Given the description of an element on the screen output the (x, y) to click on. 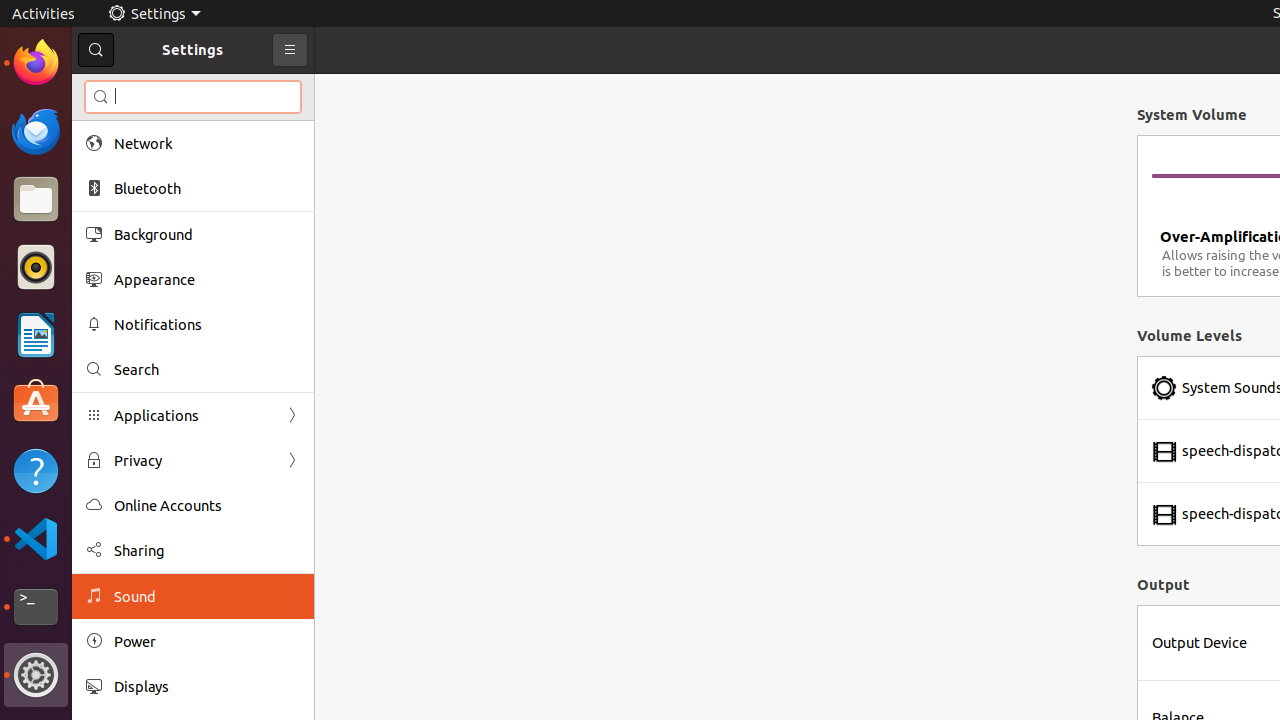
li.txt Element type: label (259, 89)
Settings Element type: menu (154, 13)
Forward Element type: icon (292, 460)
IsaHelpMain.desktop Element type: label (133, 300)
